Given the description of an element on the screen output the (x, y) to click on. 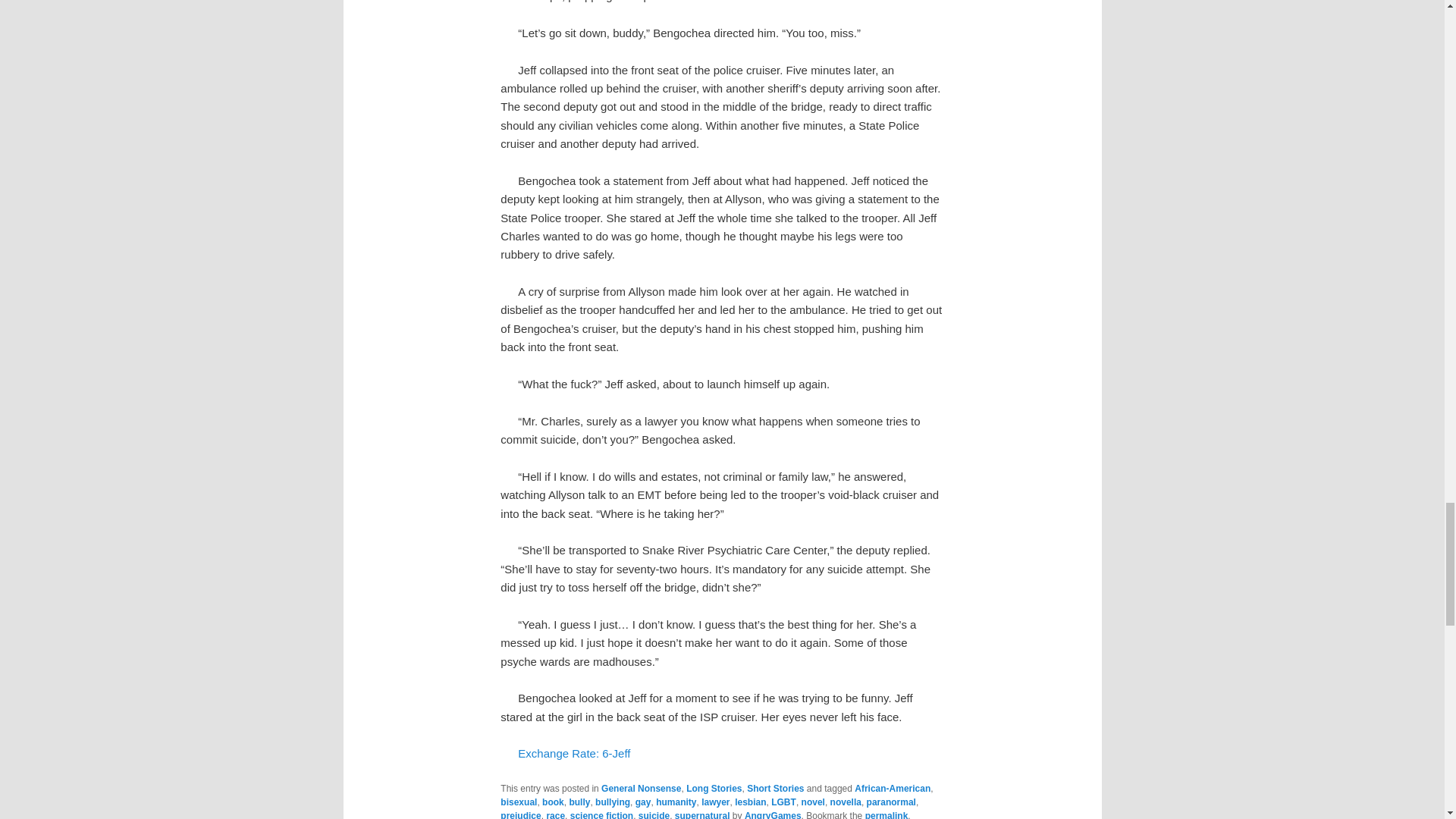
Exchange Rate: 6-Jeff (574, 753)
General Nonsense (641, 787)
science fiction (601, 814)
African-American (892, 787)
race (555, 814)
suicide (654, 814)
novel (813, 801)
gay (642, 801)
LGBT (783, 801)
lesbian (750, 801)
humanity (675, 801)
lawyer (715, 801)
paranormal (890, 801)
supernatural (702, 814)
book (552, 801)
